Given the description of an element on the screen output the (x, y) to click on. 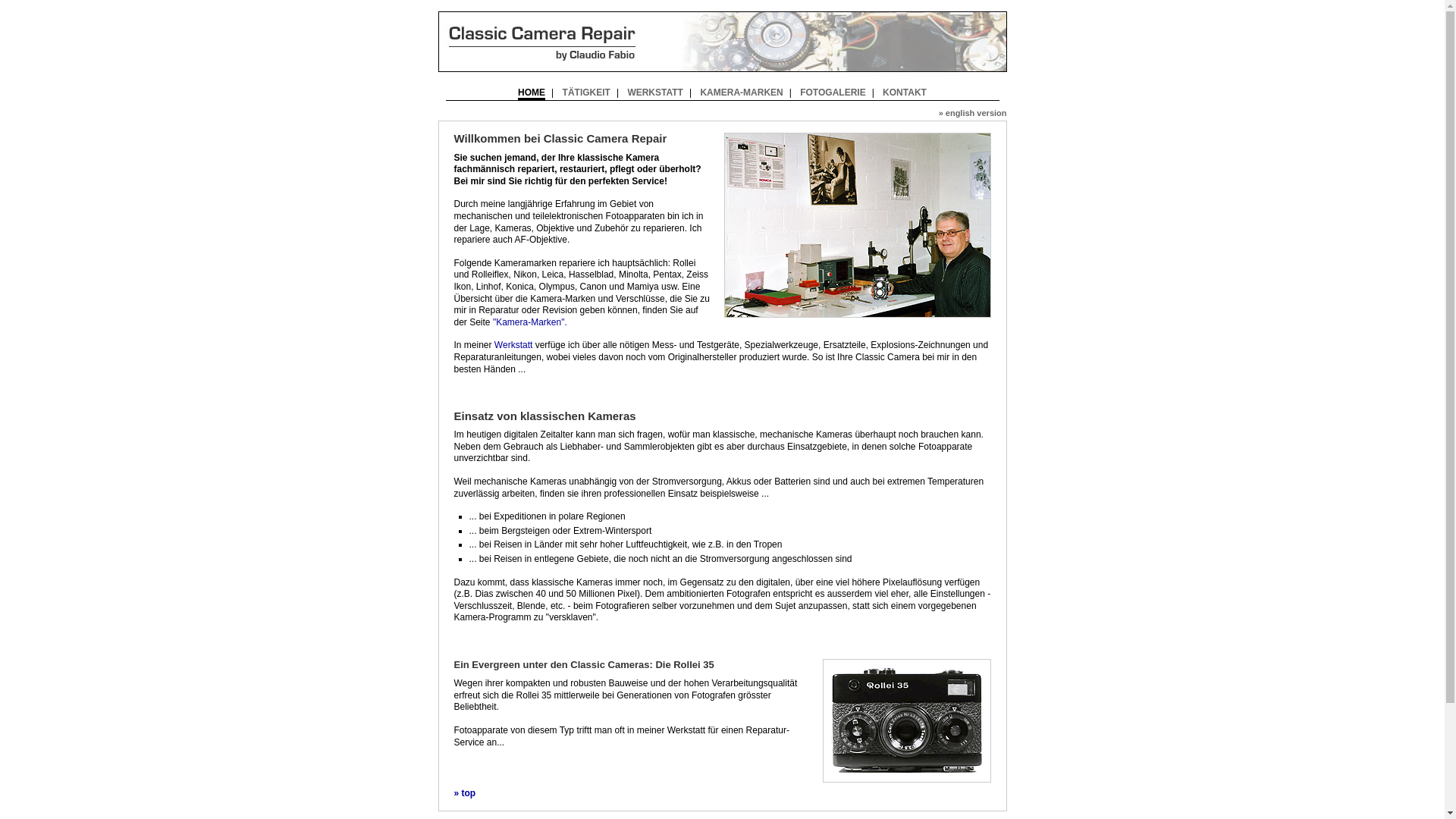
"Kamera-Marken". Element type: text (529, 321)
HOME Element type: text (531, 93)
KAMERA-MARKEN Element type: text (740, 92)
FOTOGALERIE Element type: text (832, 92)
Werkstatt Element type: text (513, 344)
KONTAKT Element type: text (904, 92)
Classic Camera Repair Element type: text (722, 41)
WERKSTATT Element type: text (655, 92)
